Given the description of an element on the screen output the (x, y) to click on. 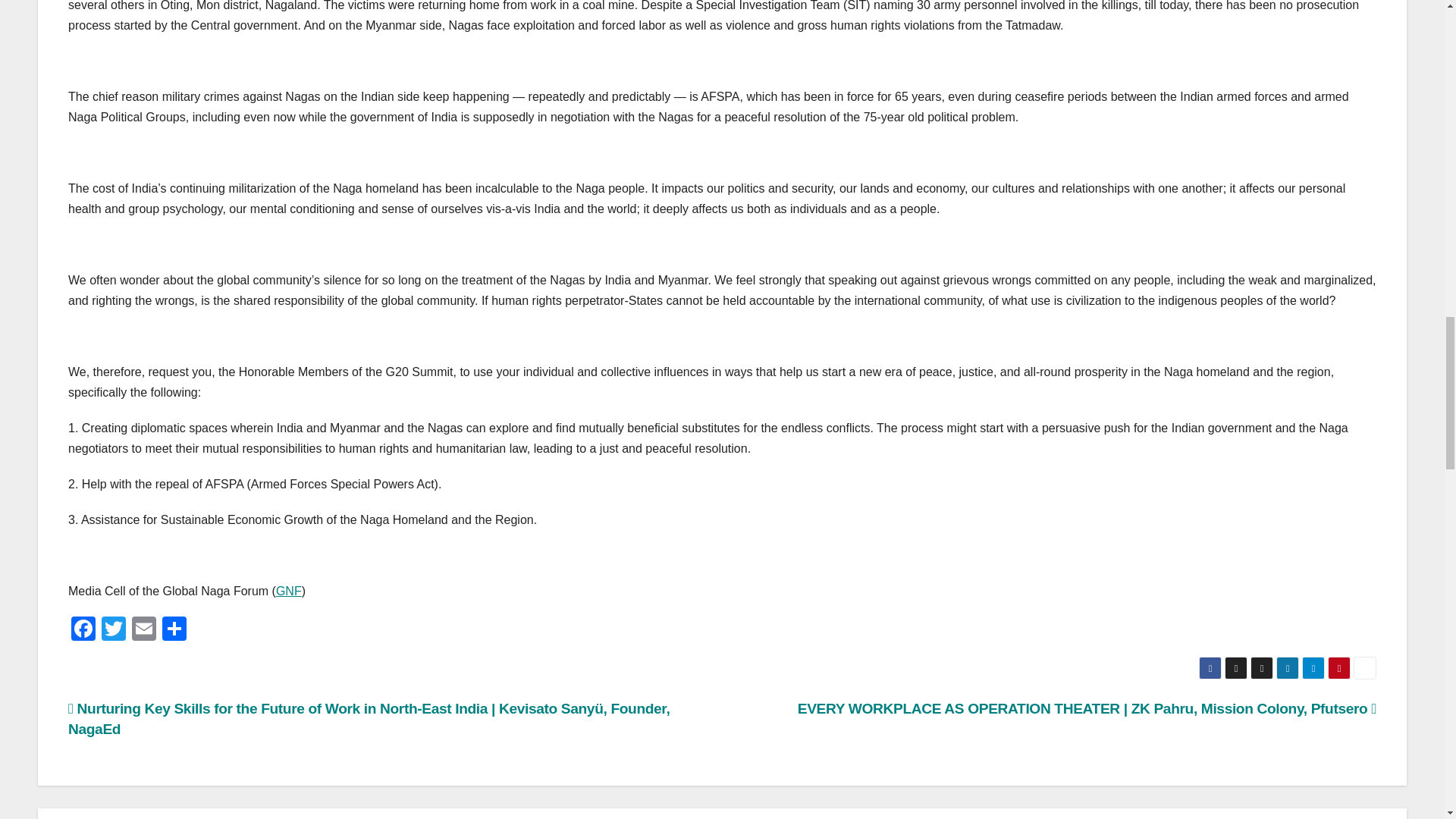
GNF (288, 590)
Facebook (83, 630)
